Given the description of an element on the screen output the (x, y) to click on. 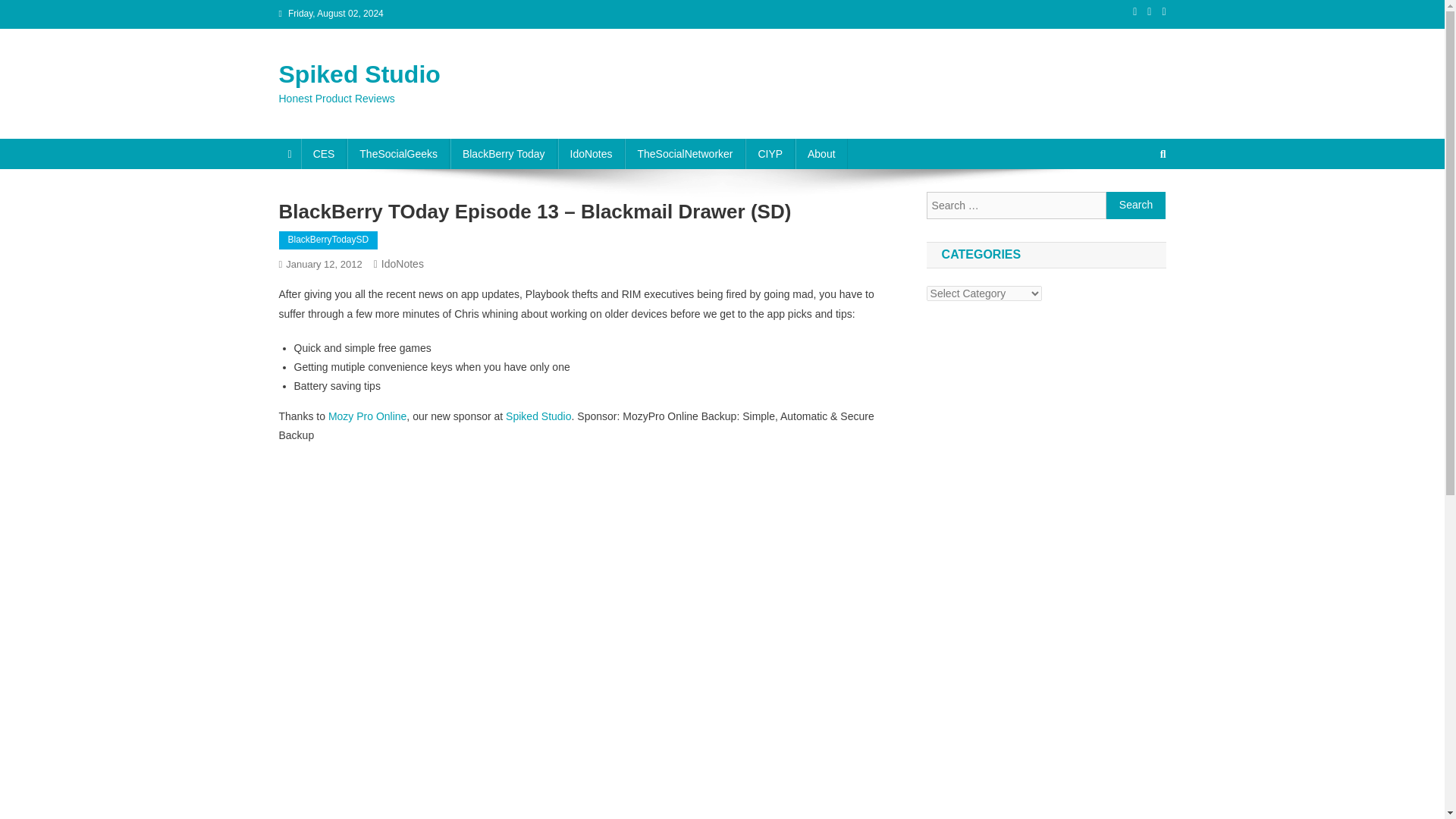
IdoNotes (590, 153)
Spiked Studio (360, 73)
TheSocialGeeks (398, 153)
Mozy Pro Online (367, 416)
BlackBerryTodaySD (328, 239)
Search (1136, 205)
TheSocialNetworker (684, 153)
January 12, 2012 (323, 264)
BlackBerry Today (503, 153)
Spiked Studio (537, 416)
Search (1136, 205)
CIYP (769, 153)
Search (1133, 204)
CES (324, 153)
About (820, 153)
